Given the description of an element on the screen output the (x, y) to click on. 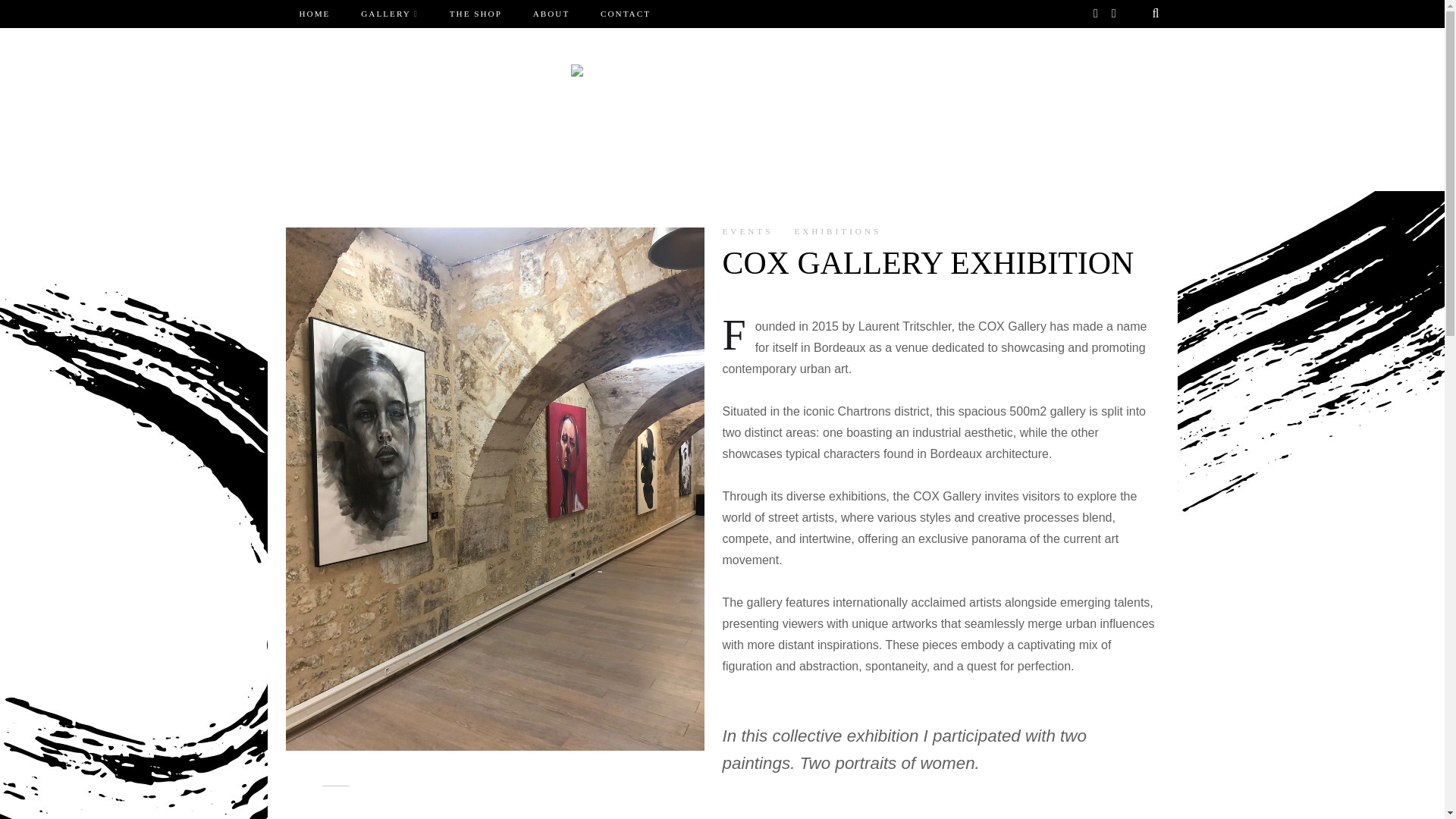
HOME (314, 13)
GALLERY (390, 13)
CONTACT (624, 13)
ABOUT (551, 13)
THE SHOP (475, 13)
